Given the description of an element on the screen output the (x, y) to click on. 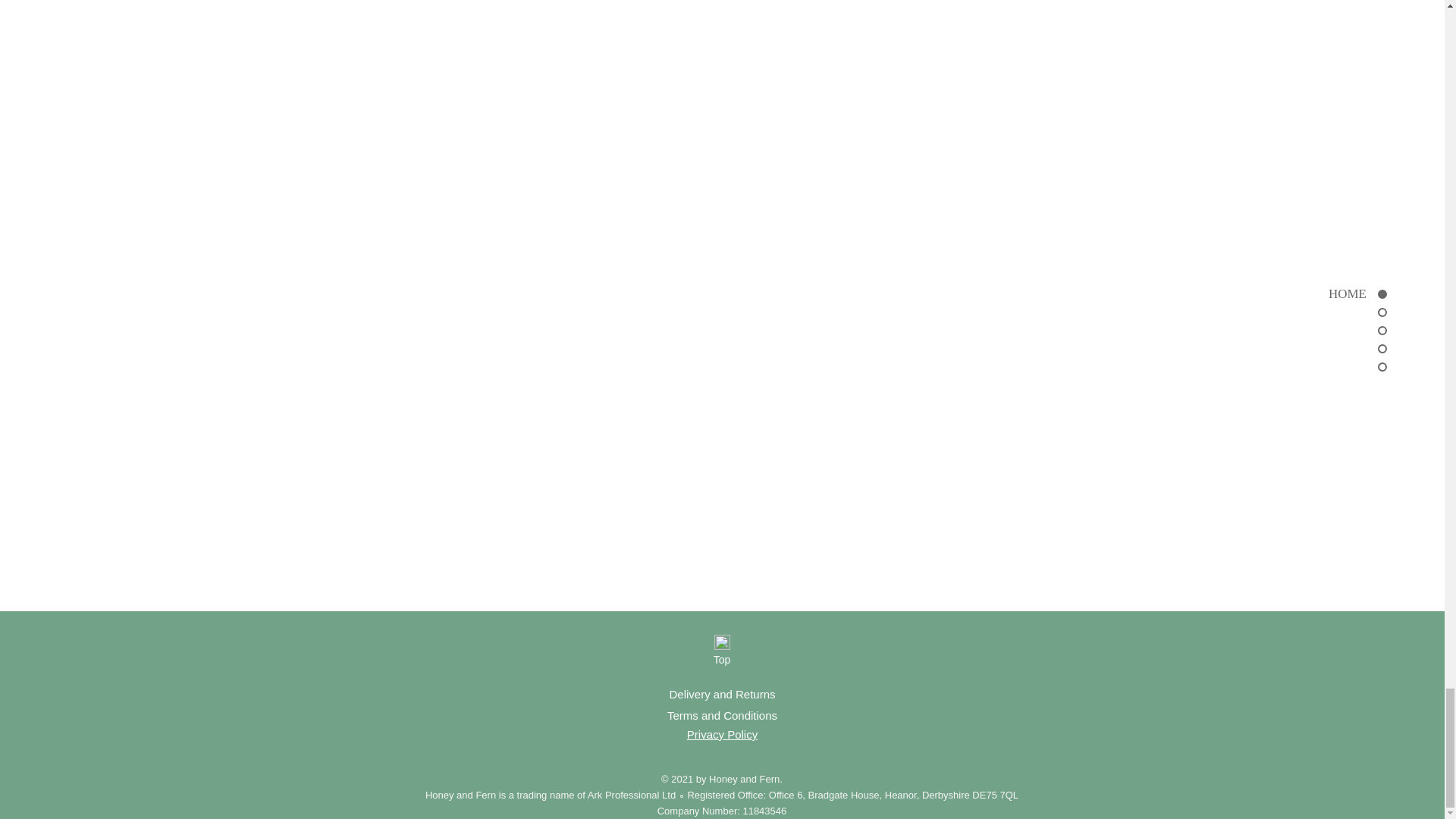
Top (721, 660)
Delivery and Returns (721, 694)
Privacy Policy (722, 734)
Terms and Conditions (721, 715)
Back to top (722, 642)
